Given the description of an element on the screen output the (x, y) to click on. 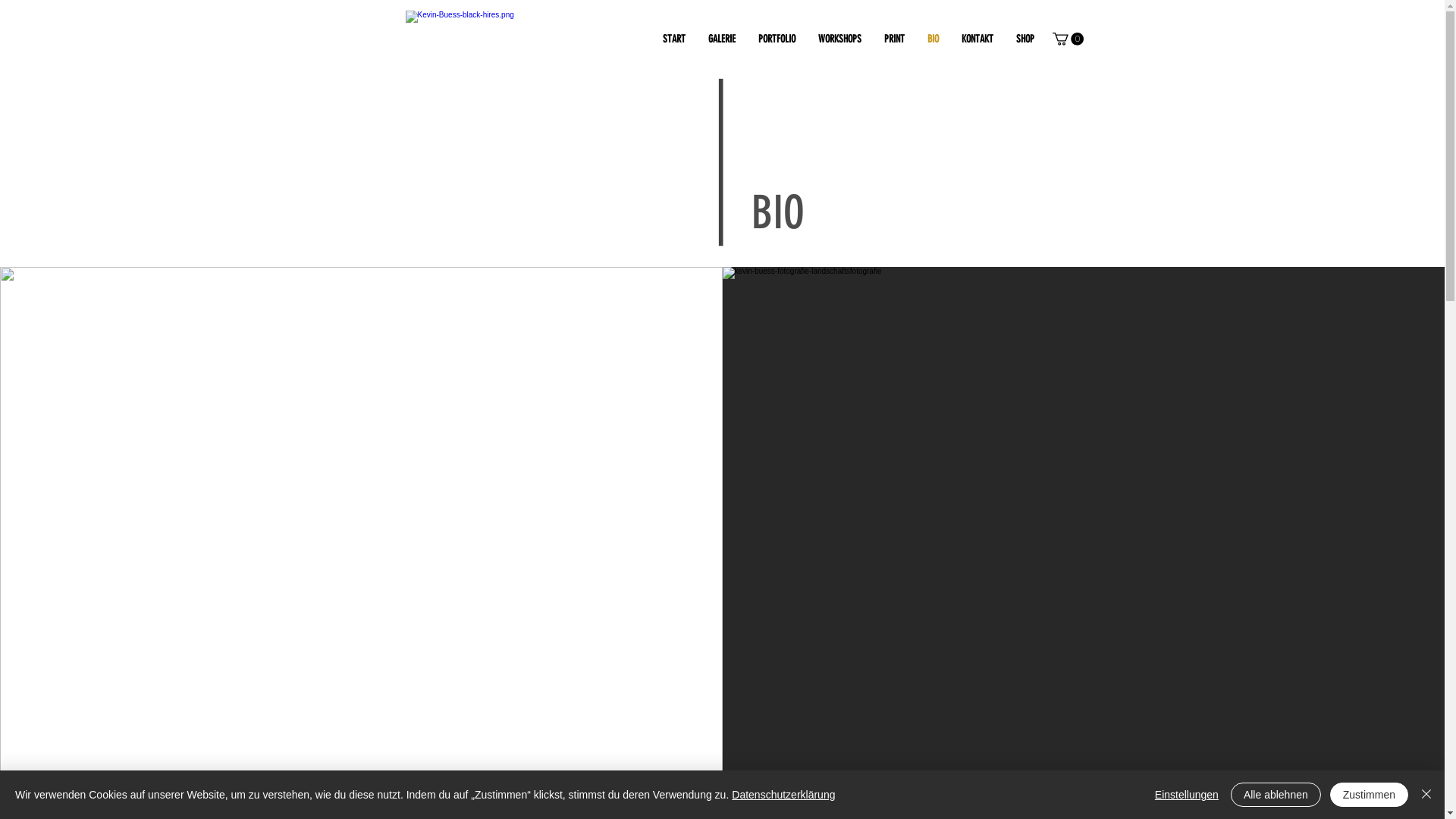
SHOP Element type: text (1024, 39)
BIO Element type: text (933, 39)
Zustimmen Element type: text (1369, 794)
GALERIE Element type: text (721, 39)
PRINT Element type: text (894, 39)
WORKSHOPS Element type: text (839, 39)
PORTFOLIO Element type: text (776, 39)
KONTAKT Element type: text (977, 39)
0 Element type: text (1067, 38)
START Element type: text (673, 39)
Alle ablehnen Element type: text (1275, 794)
